Given the description of an element on the screen output the (x, y) to click on. 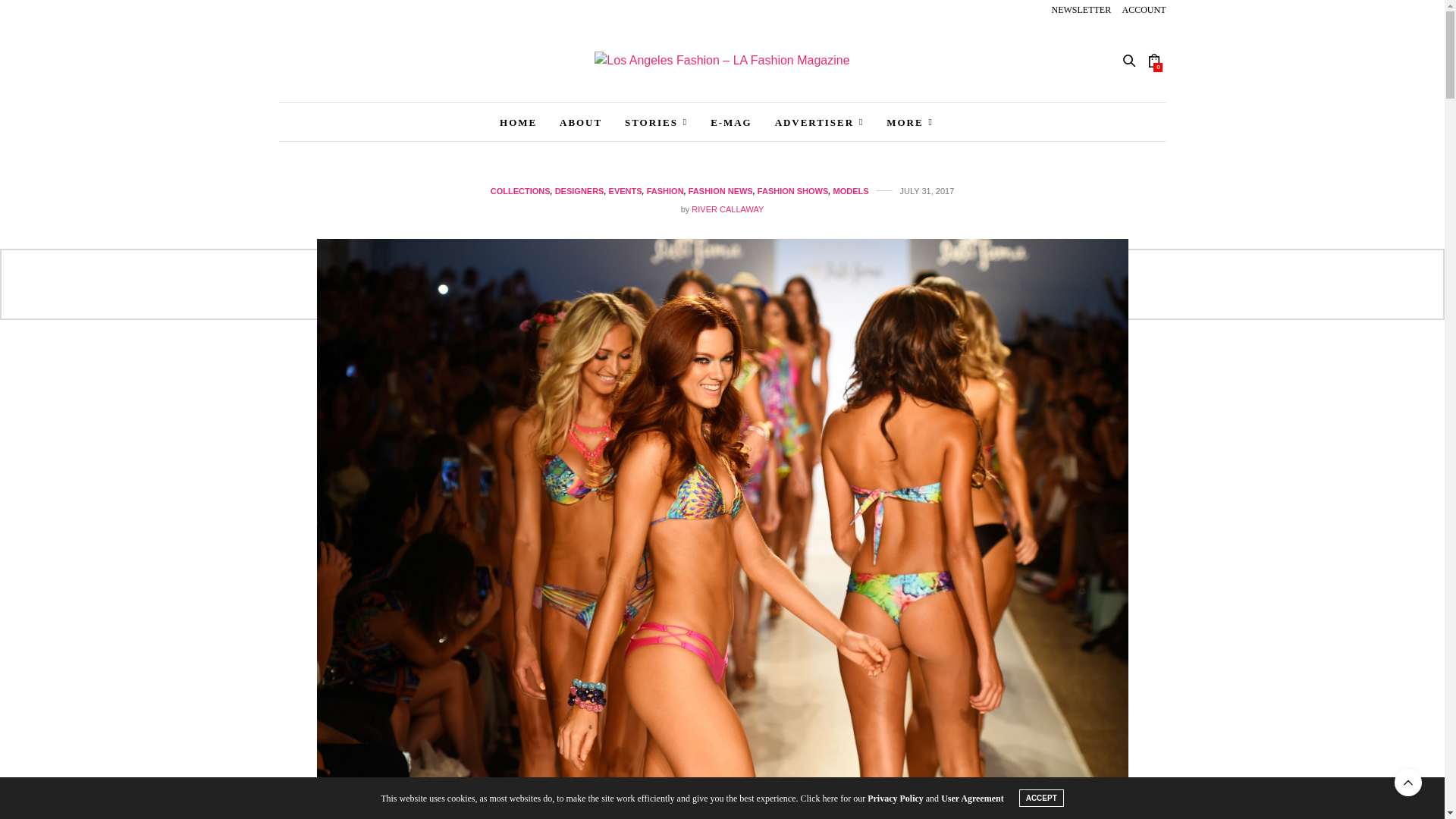
Scroll To Top (1408, 782)
NEWSLETTER (1080, 9)
E-MAG (731, 121)
STORIES (655, 121)
ADVERTISER (819, 121)
ABOUT (580, 121)
ACCOUNT (1143, 9)
HOME (518, 121)
Posts by River Callaway (726, 208)
